Given the description of an element on the screen output the (x, y) to click on. 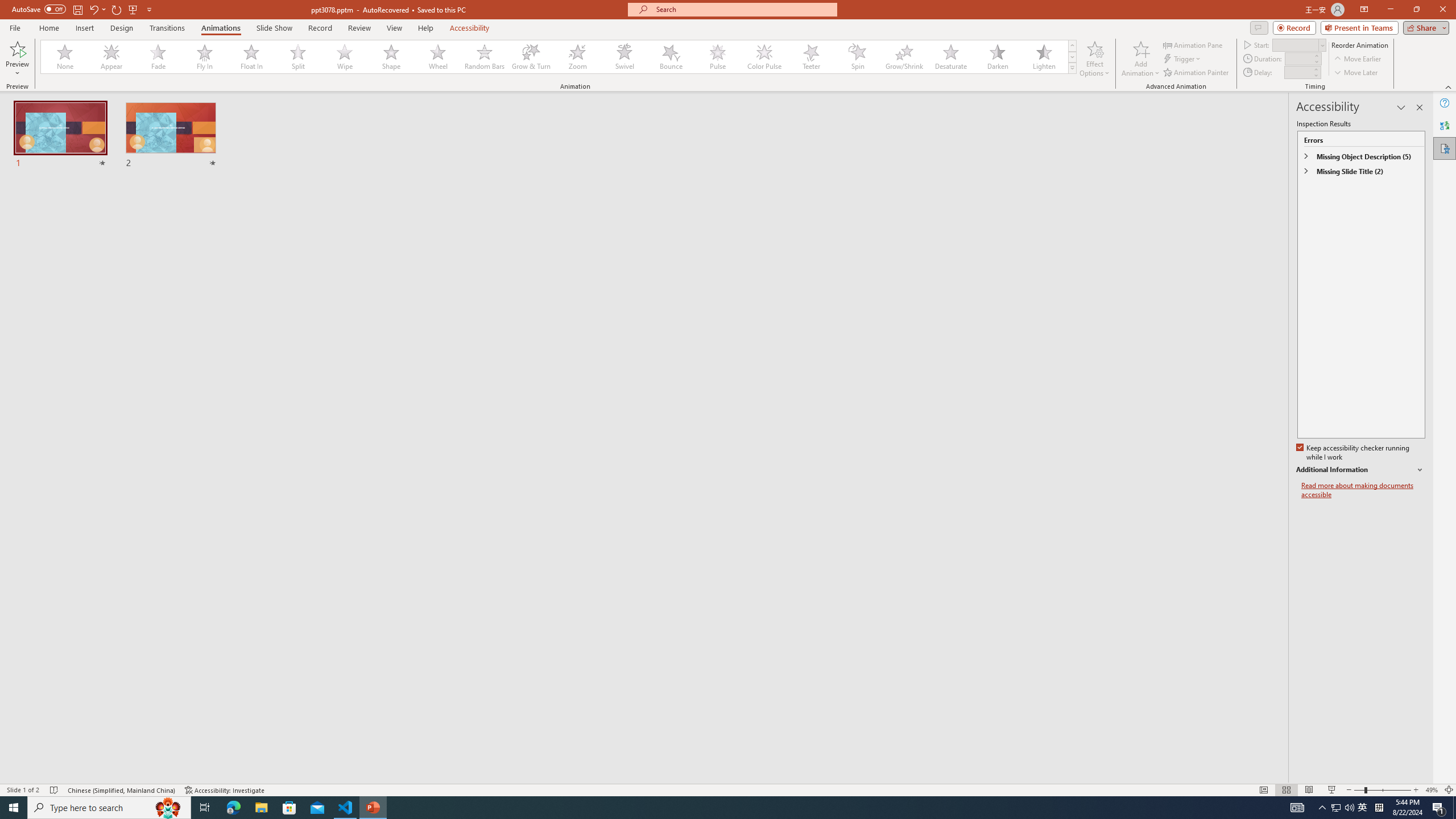
Collapse the Ribbon (1448, 86)
Present in Teams (1359, 27)
Quick Access Toolbar (82, 9)
Add Animation (1141, 58)
Review (359, 28)
Preview (17, 58)
System (6, 6)
